Given the description of an element on the screen output the (x, y) to click on. 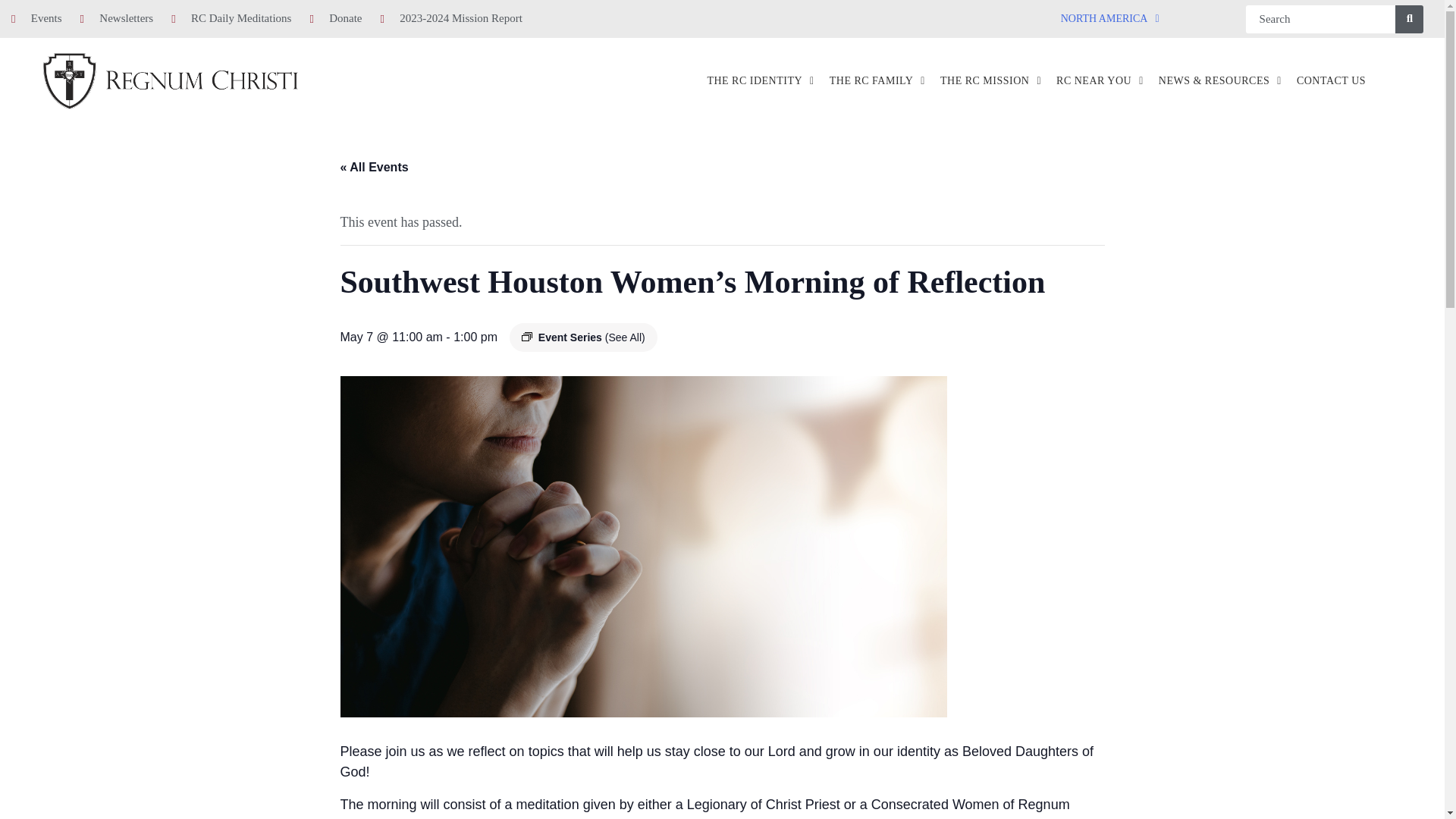
Search (1320, 18)
Event Series (526, 336)
Newsletters (117, 18)
THE RC FAMILY (877, 80)
Donate (334, 18)
RC Daily Meditations (231, 18)
THE RC MISSION (990, 80)
Events (36, 18)
THE RC IDENTITY (759, 80)
2023-2024 Mission Report (450, 18)
NORTH AMERICA (1109, 19)
